Given the description of an element on the screen output the (x, y) to click on. 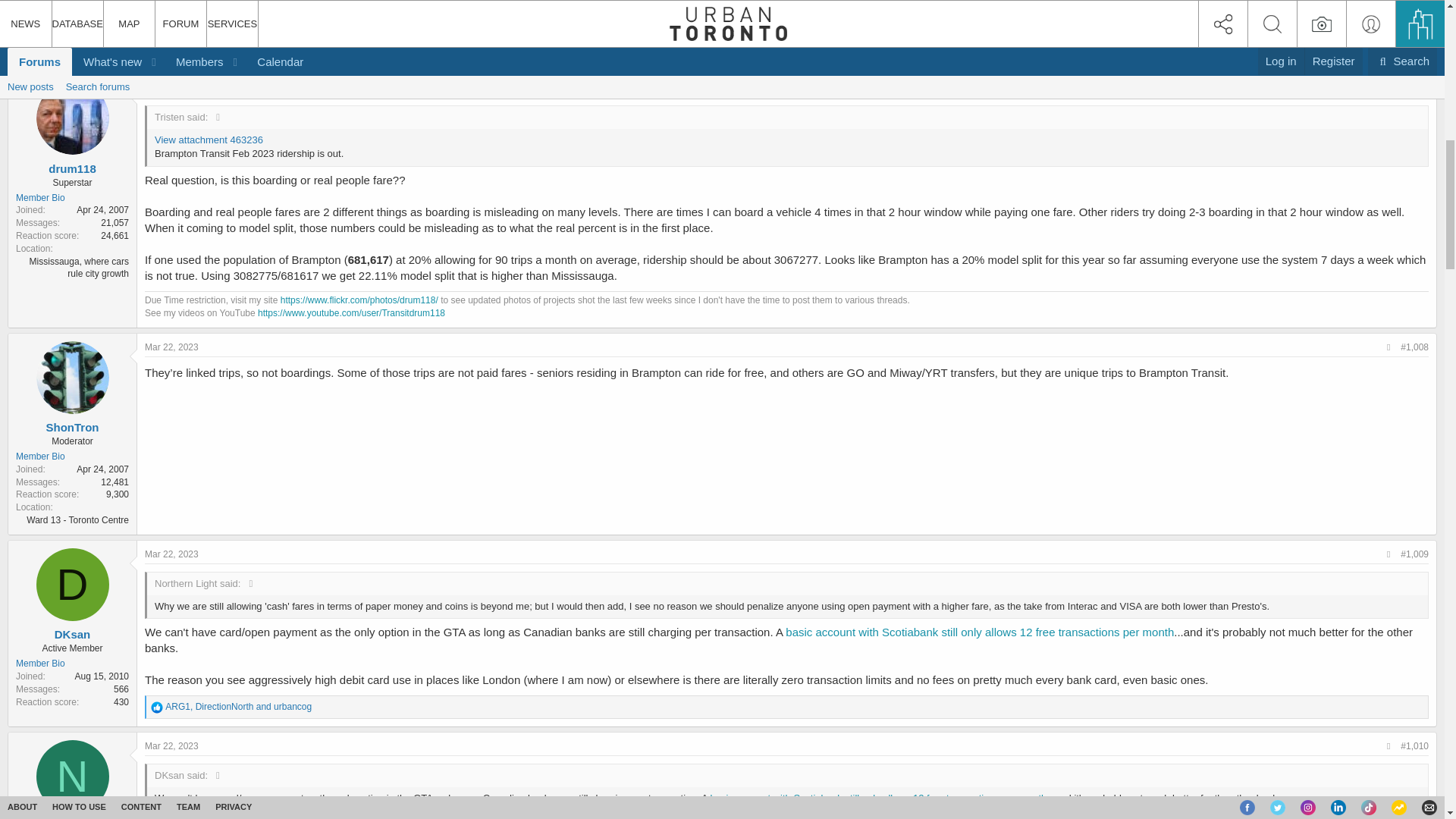
Mar 22, 2023 at 12:58 AM (171, 347)
Mar 22, 2023 at 10:13 AM (171, 746)
Mar 22, 2023 at 10:10 AM (171, 553)
Like (157, 49)
Like (157, 707)
Mar 22, 2023 at 12:41 AM (171, 87)
